Given the description of an element on the screen output the (x, y) to click on. 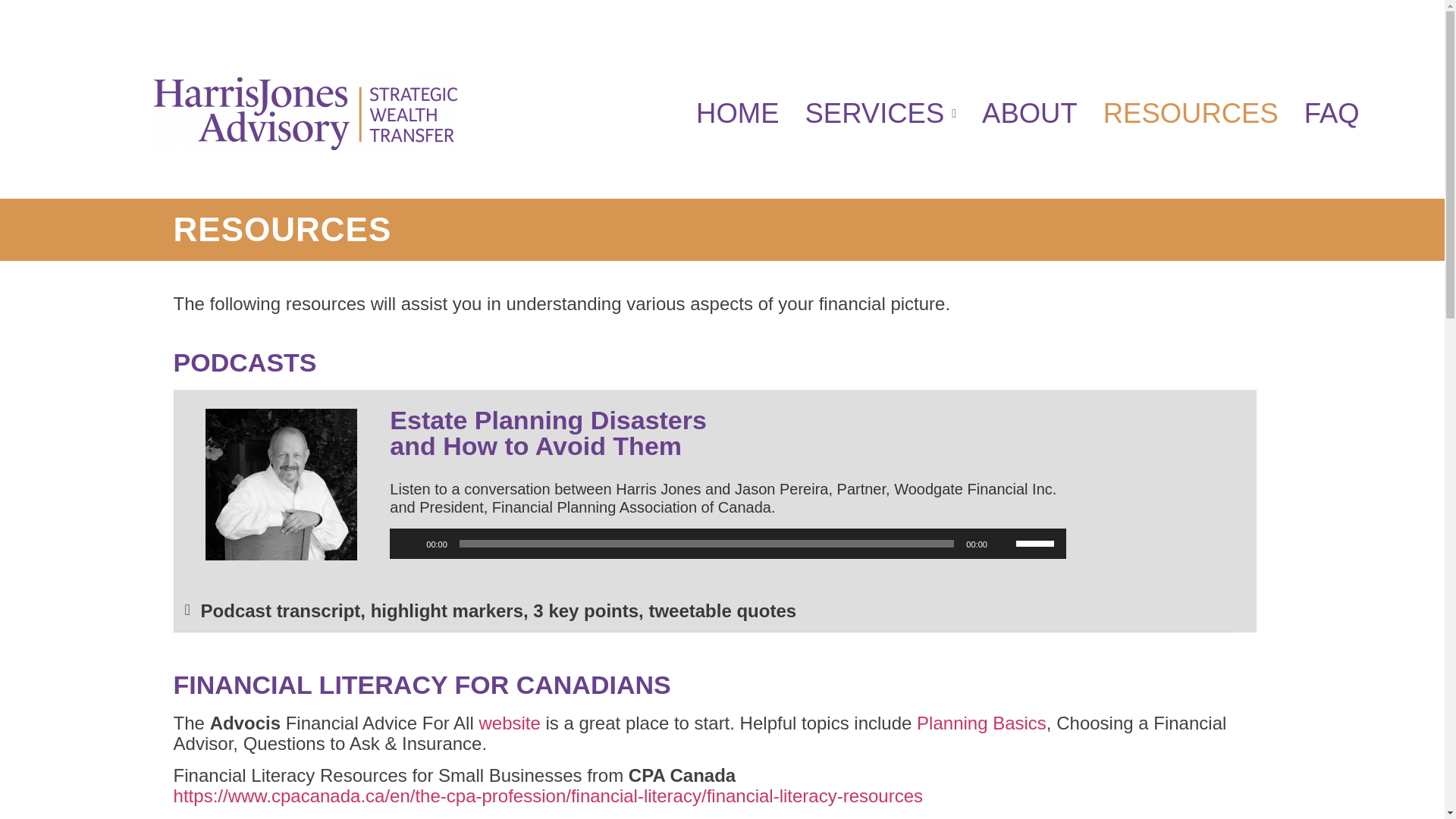
ABOUT (1029, 113)
Play (408, 543)
Mute (1003, 543)
RESOURCES (1190, 113)
SERVICES (880, 113)
HOME (737, 113)
Harris Jones Podcast Image (280, 484)
Planning Basics (981, 722)
FAQ (1332, 113)
website (509, 722)
Harris Jones Advisory Logo in purple (305, 112)
